Given the description of an element on the screen output the (x, y) to click on. 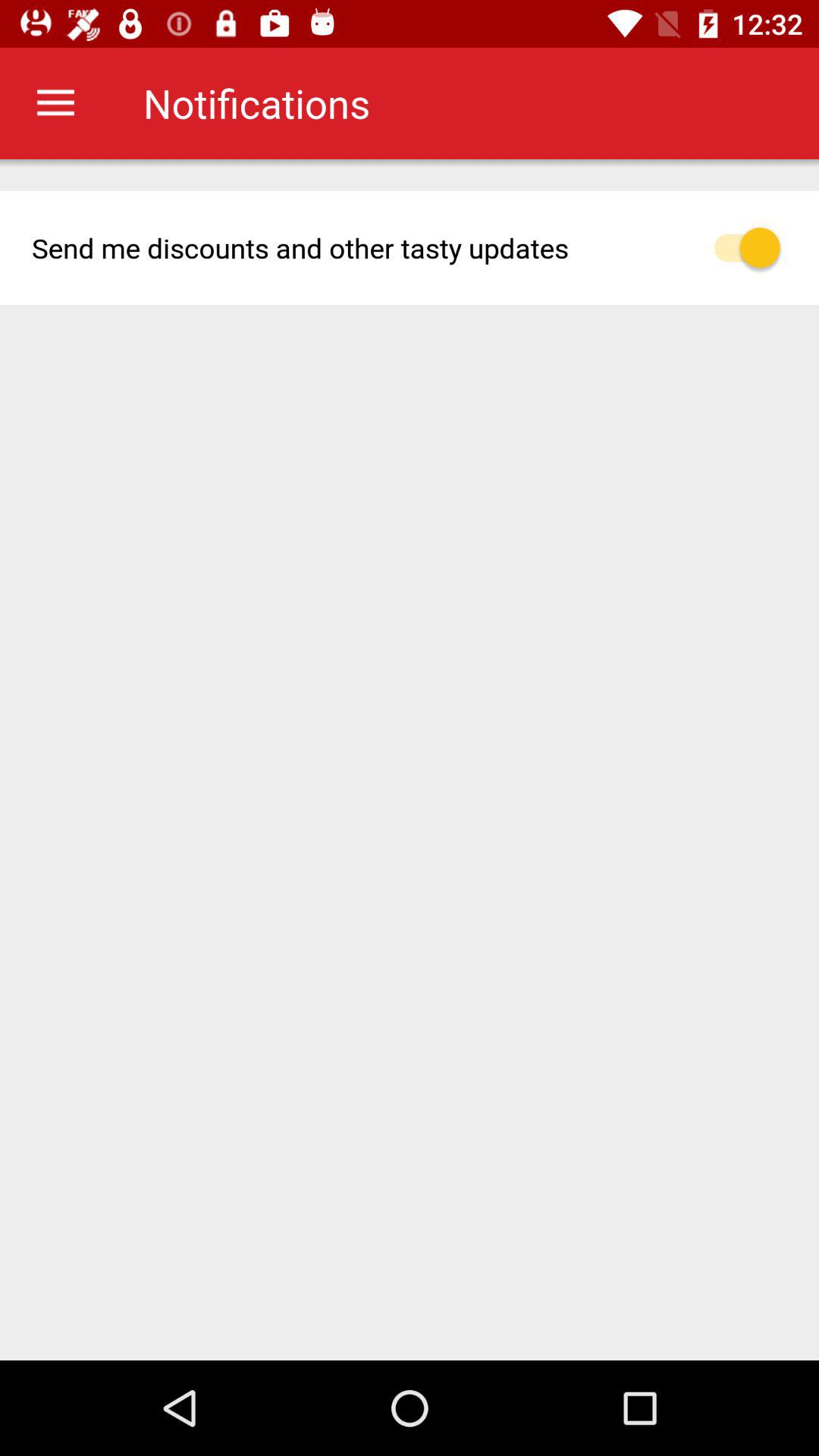
toggle offers (755, 247)
